Given the description of an element on the screen output the (x, y) to click on. 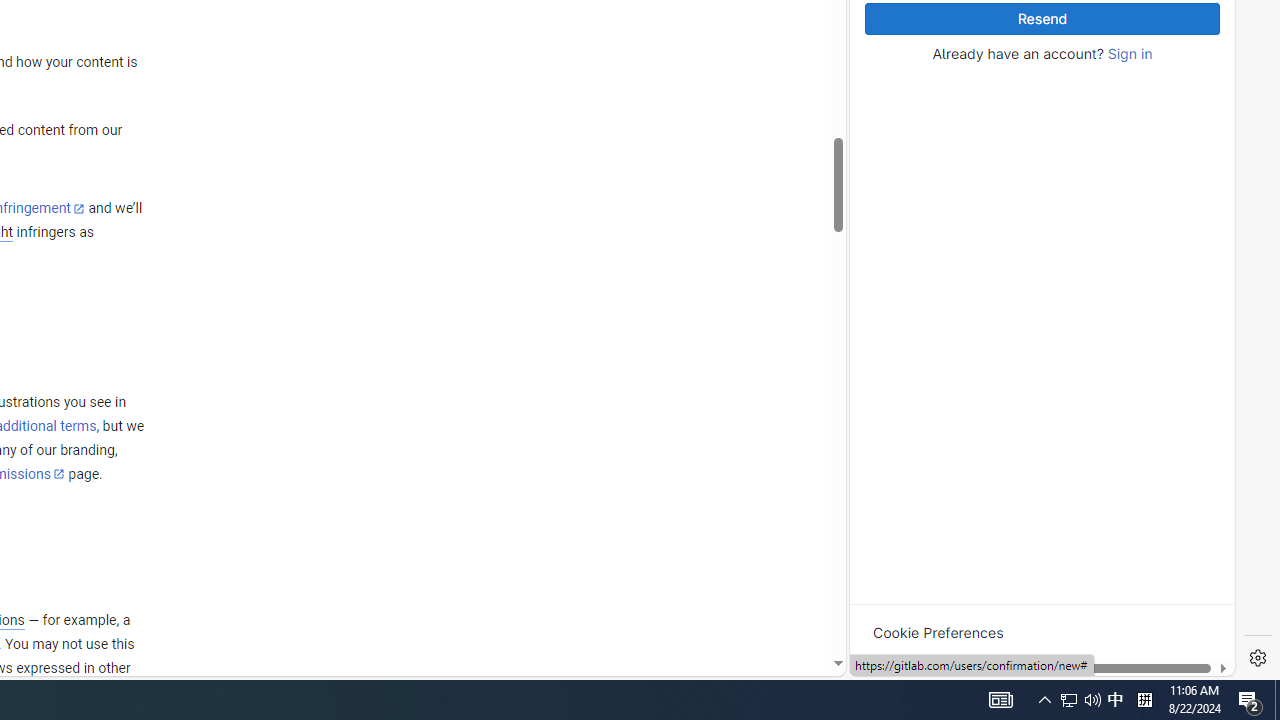
View details (1145, 255)
Cookie Preferences (938, 632)
GitLab (966, 678)
Settings (1258, 658)
Sign in (1130, 53)
Global web icon (888, 403)
Resend (1042, 19)
View details (1145, 256)
